Given the description of an element on the screen output the (x, y) to click on. 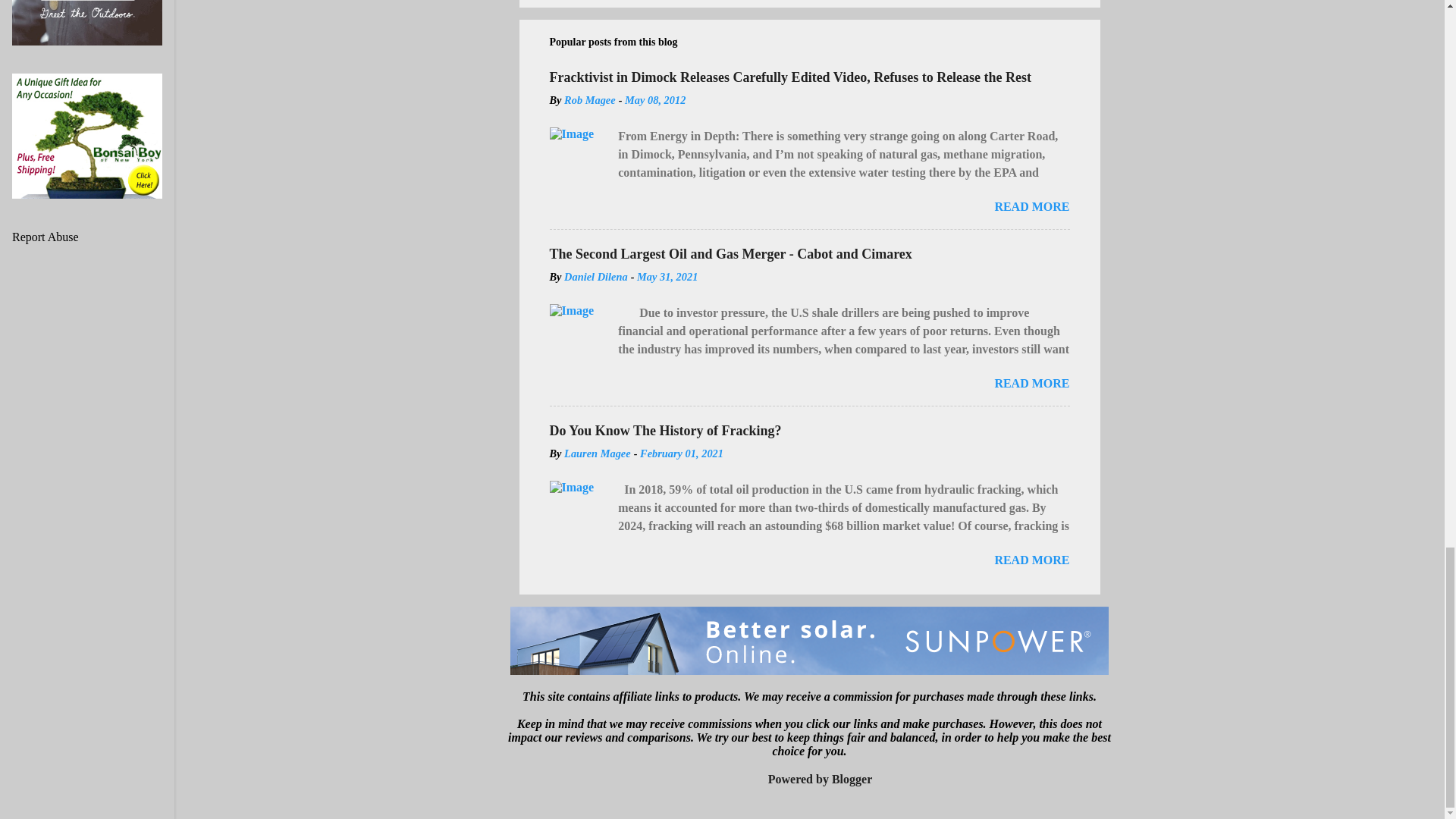
May 31, 2021 (667, 276)
Do You Know The History of Fracking? (664, 430)
Powered by Blogger (809, 779)
The Second Largest Oil and Gas Merger - Cabot and Cimarex (729, 253)
author profile (589, 100)
READ MORE (1031, 382)
Lauren Magee (597, 453)
Rob Magee (589, 100)
READ MORE (1031, 559)
May 08, 2012 (654, 100)
February 01, 2021 (681, 453)
READ MORE (1031, 205)
Daniel Dilena (595, 276)
